Given the description of an element on the screen output the (x, y) to click on. 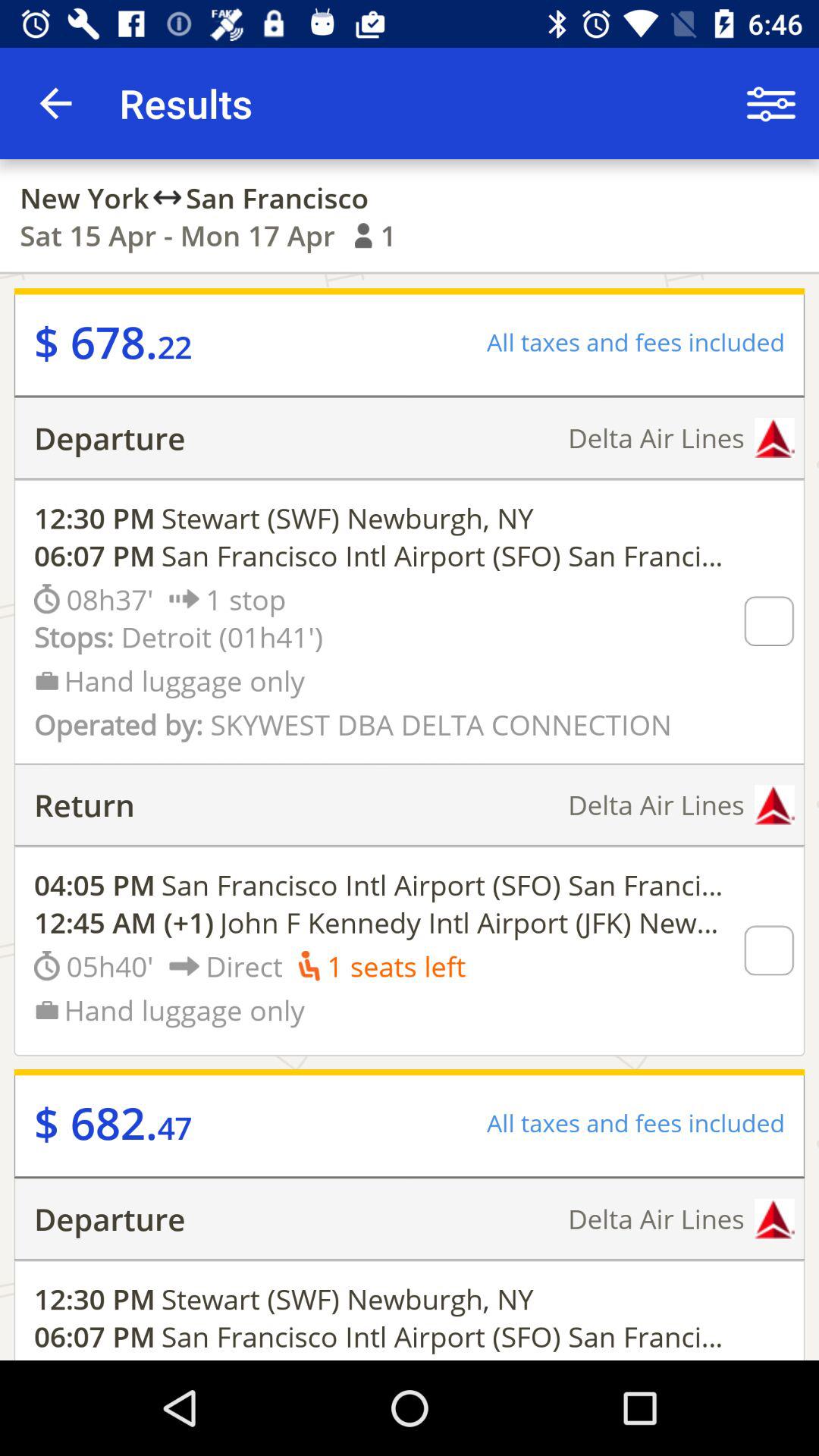
tap the item above the new york icon (55, 103)
